Given the description of an element on the screen output the (x, y) to click on. 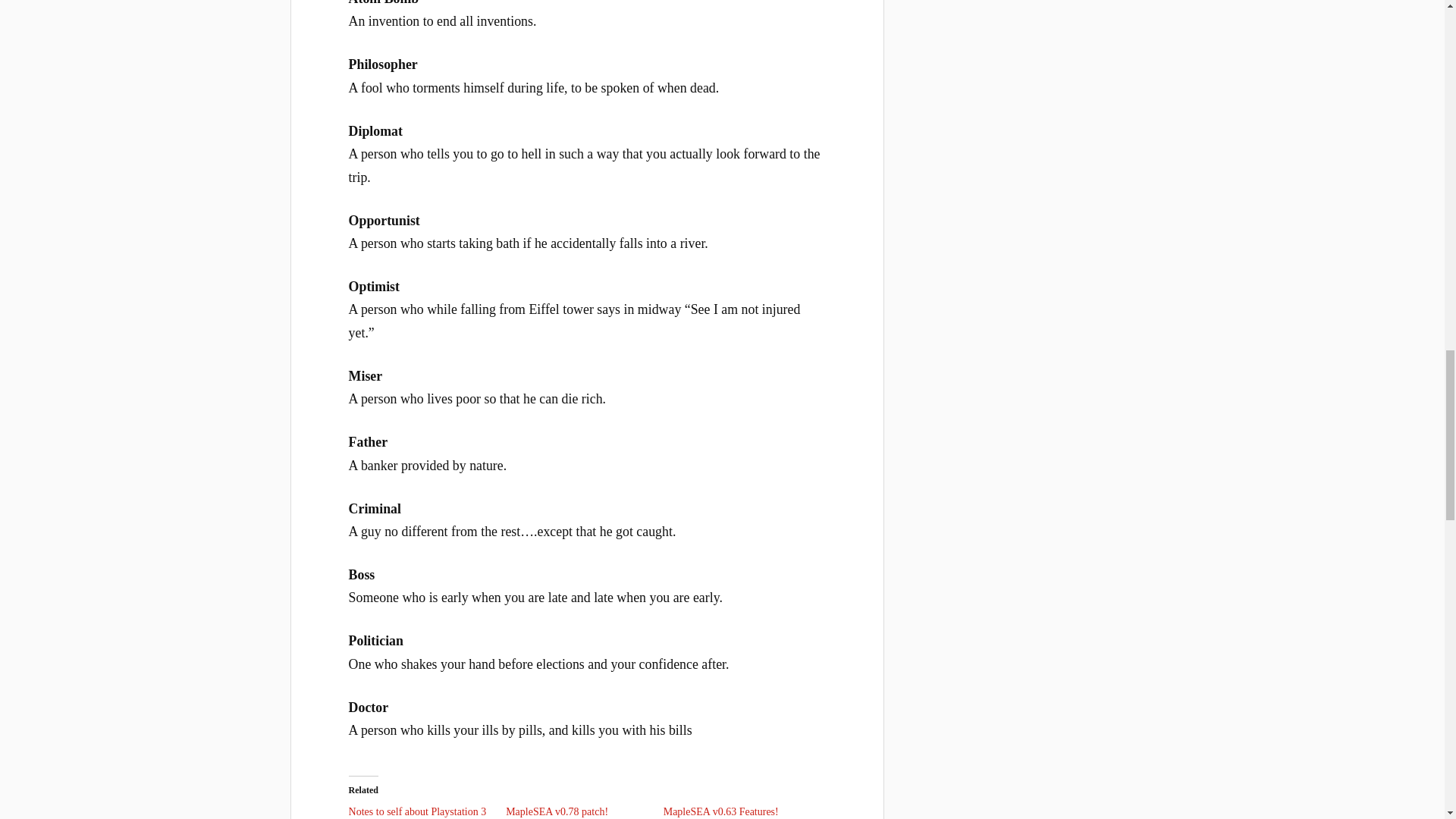
MapleSEA v0.78 patch! (556, 811)
Notes to self about Playstation 3 backup restore (417, 812)
Notes to self about Playstation 3 backup restore (417, 812)
MapleSEA v0.63 Features! (720, 811)
MapleSEA v0.63 Features! (720, 811)
MapleSEA v0.78 patch! (556, 811)
